Given the description of an element on the screen output the (x, y) to click on. 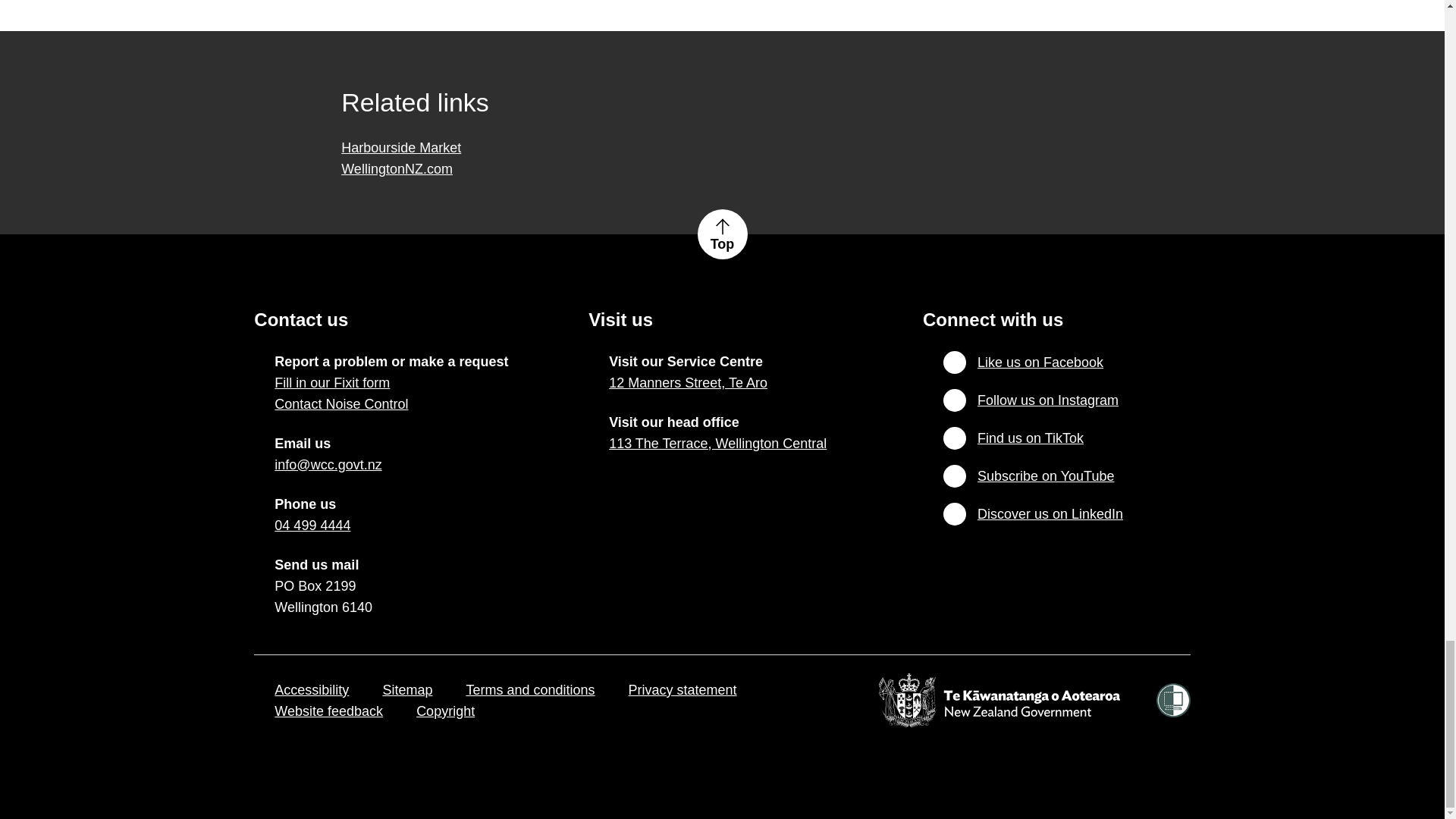
Link opens in a new window (328, 711)
Link opens in a new window (687, 382)
Link opens in a new window (328, 464)
Opens in a new window (396, 168)
Opens in a new window (400, 147)
Link opens in a new window (717, 443)
Link opens in a new window (312, 525)
